Given the description of an element on the screen output the (x, y) to click on. 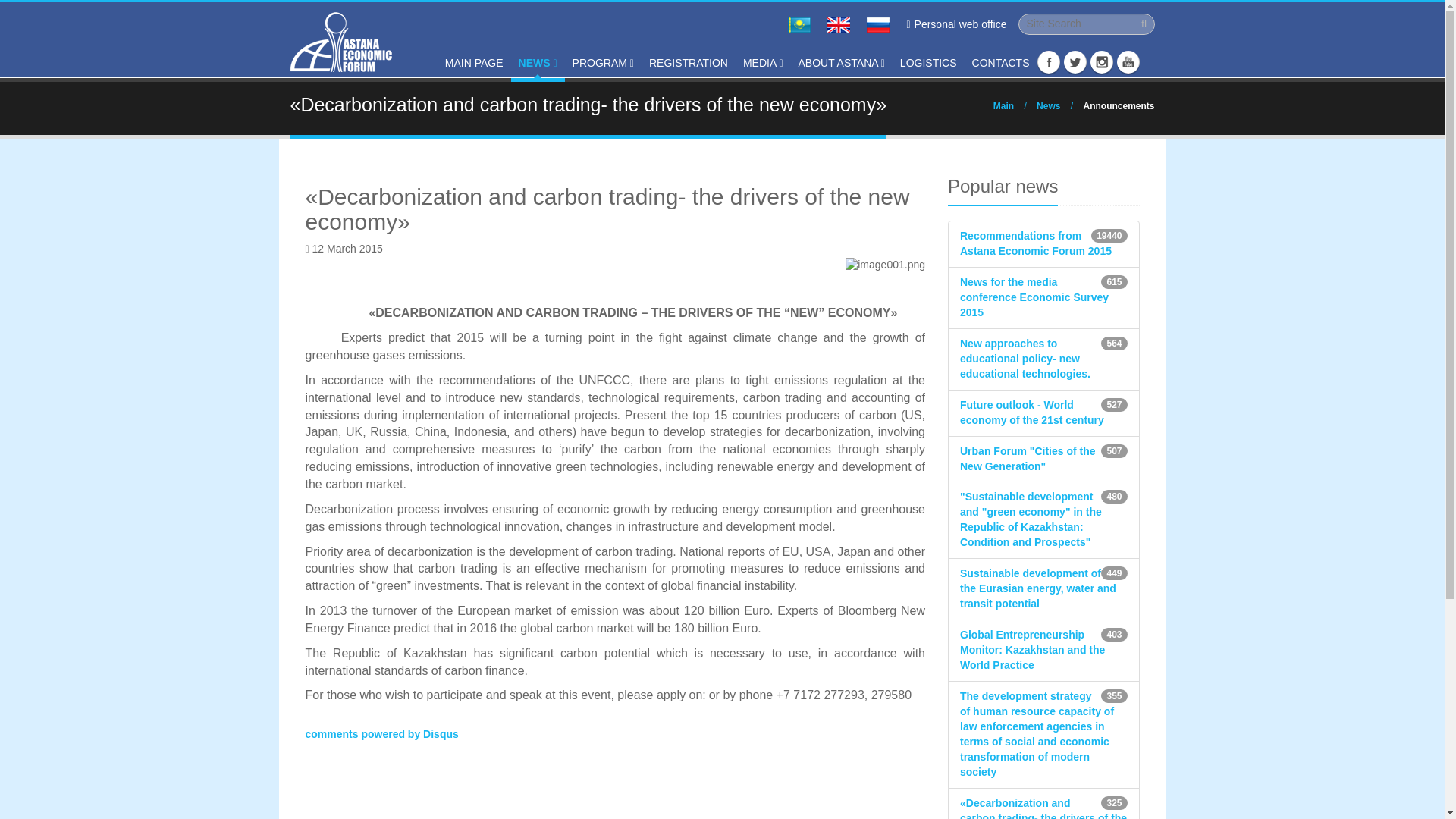
PROGRAM (603, 64)
News (1047, 105)
Personal web office (955, 24)
MAIN PAGE (474, 64)
Announcements (1118, 105)
Main (1002, 105)
image001.png (884, 264)
REGISTRATION (688, 64)
MEDIA (762, 64)
NEWS (537, 64)
